Given the description of an element on the screen output the (x, y) to click on. 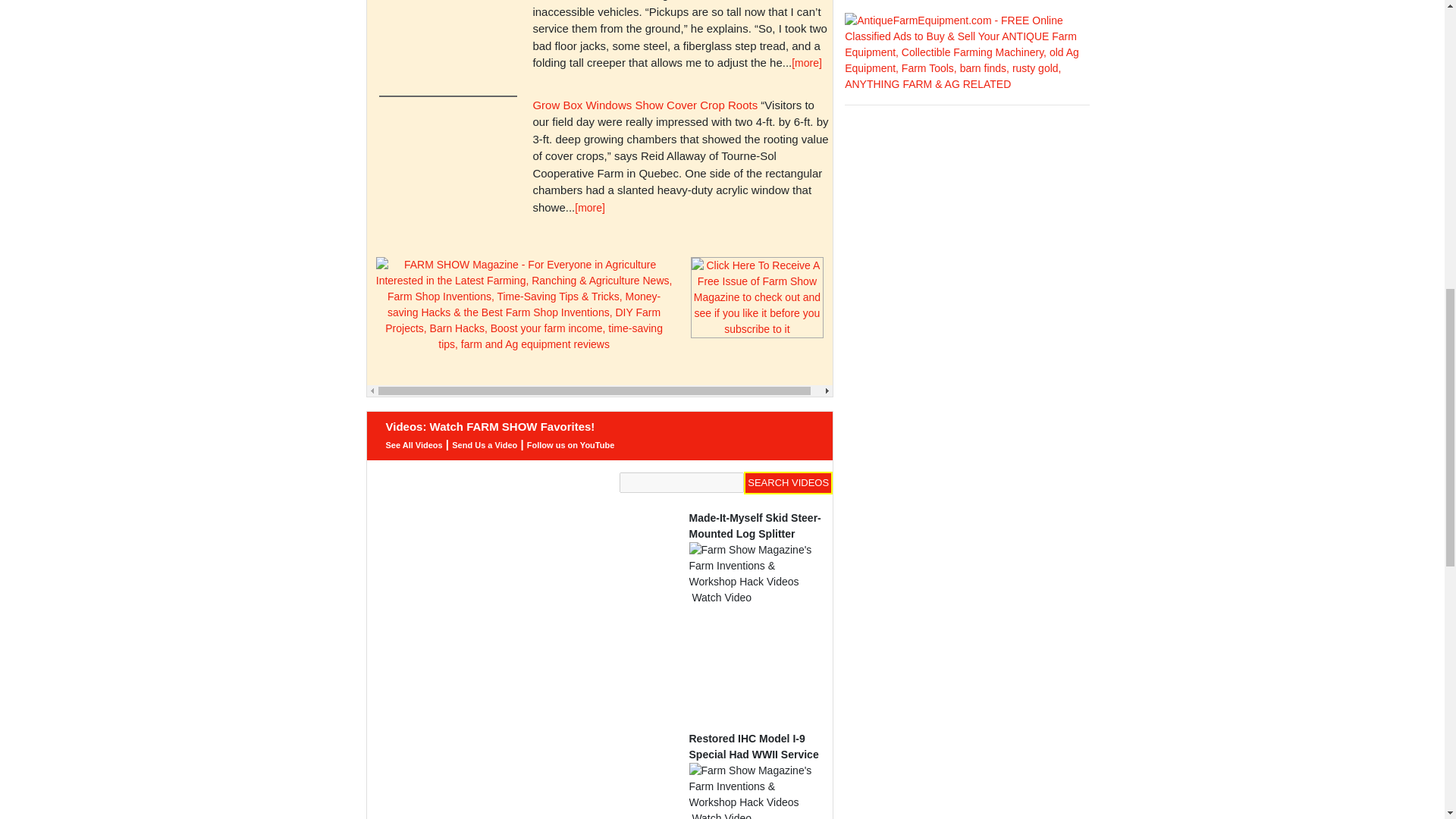
Search Videos (788, 482)
